Given the description of an element on the screen output the (x, y) to click on. 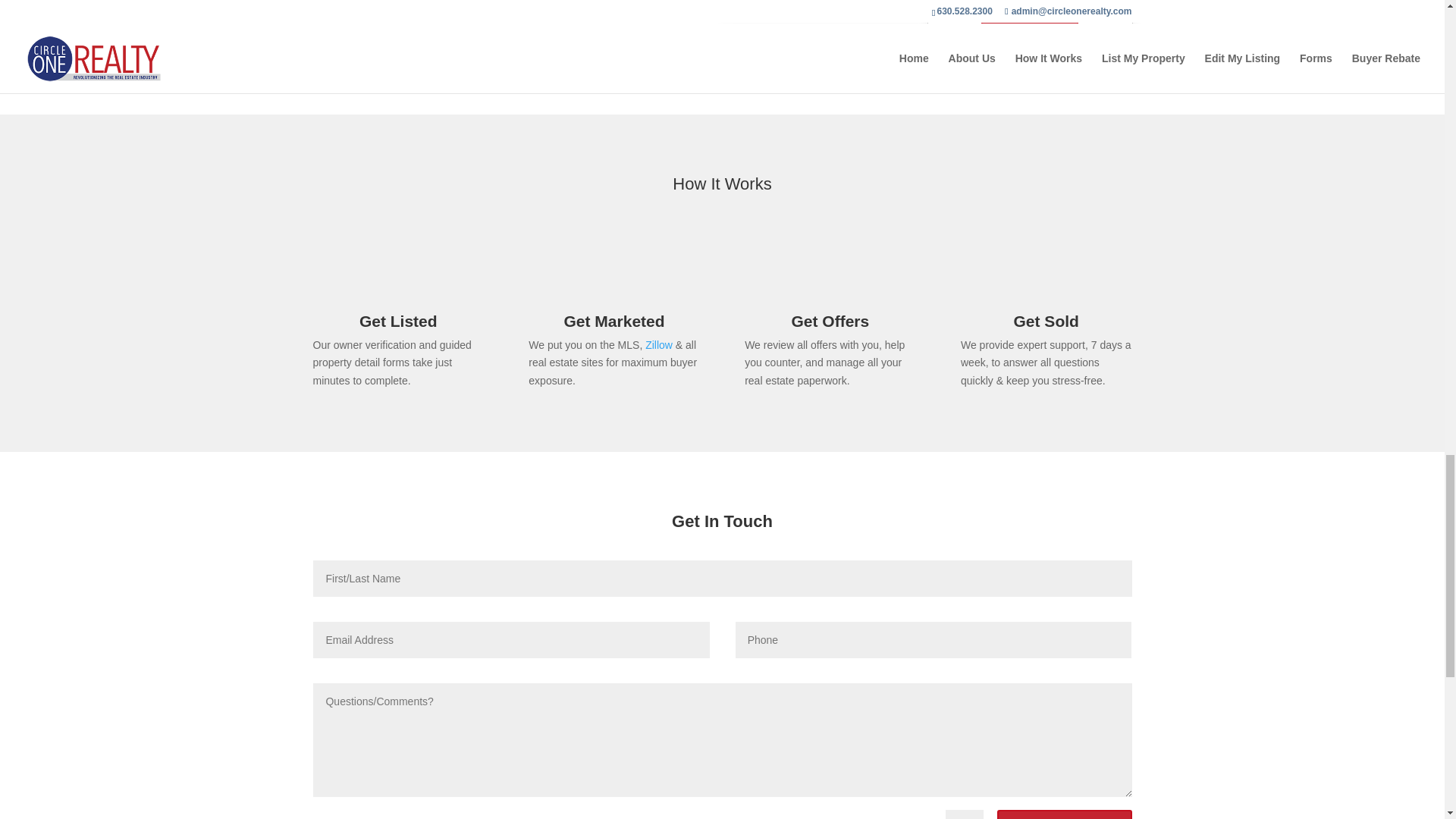
Send Message (1064, 814)
More Info (1029, 14)
Zillow (658, 345)
